Given the description of an element on the screen output the (x, y) to click on. 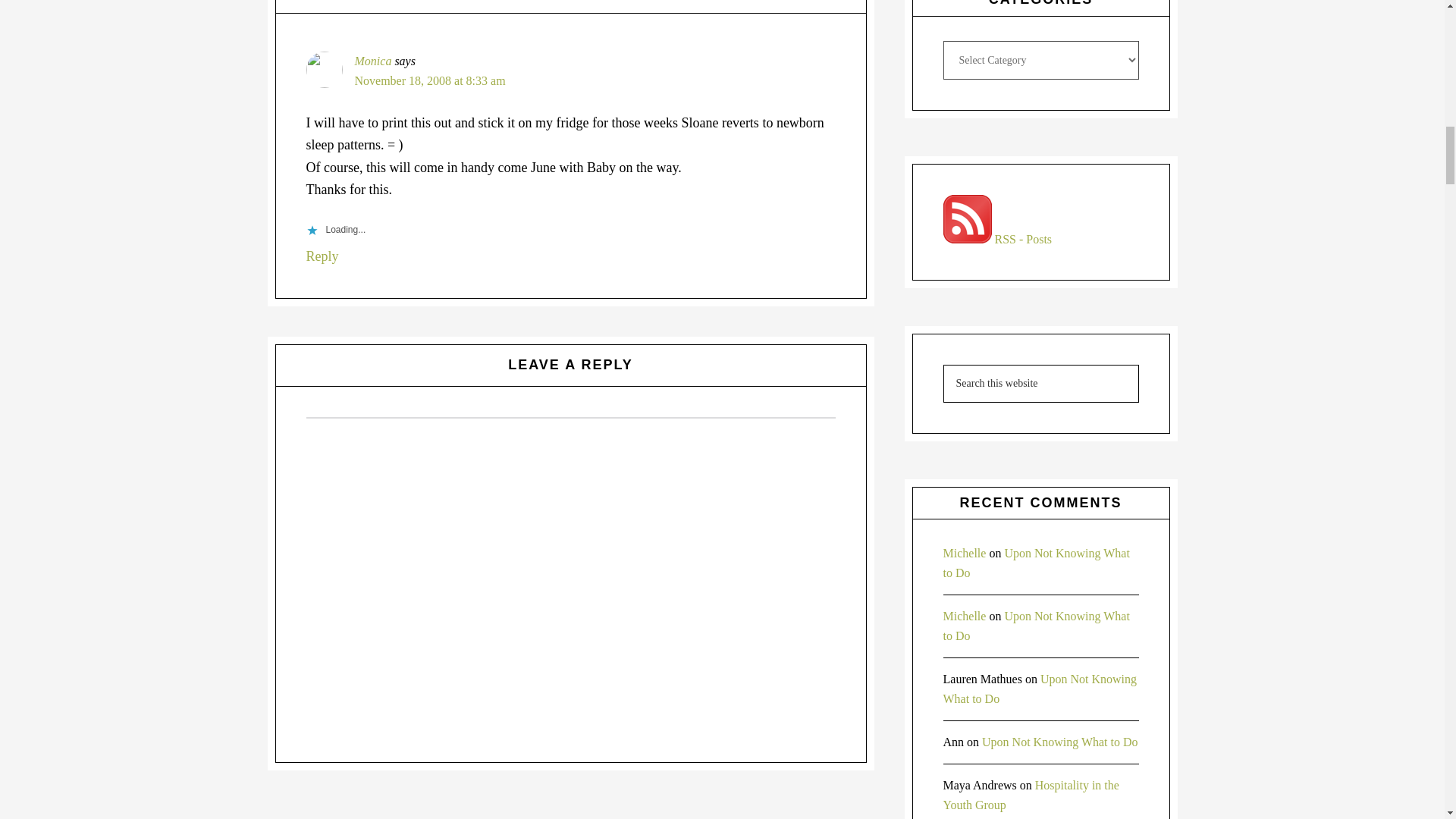
Reply (322, 255)
Monica (373, 60)
Subscribe to posts (997, 238)
November 18, 2008 at 8:33 am (430, 80)
